Given the description of an element on the screen output the (x, y) to click on. 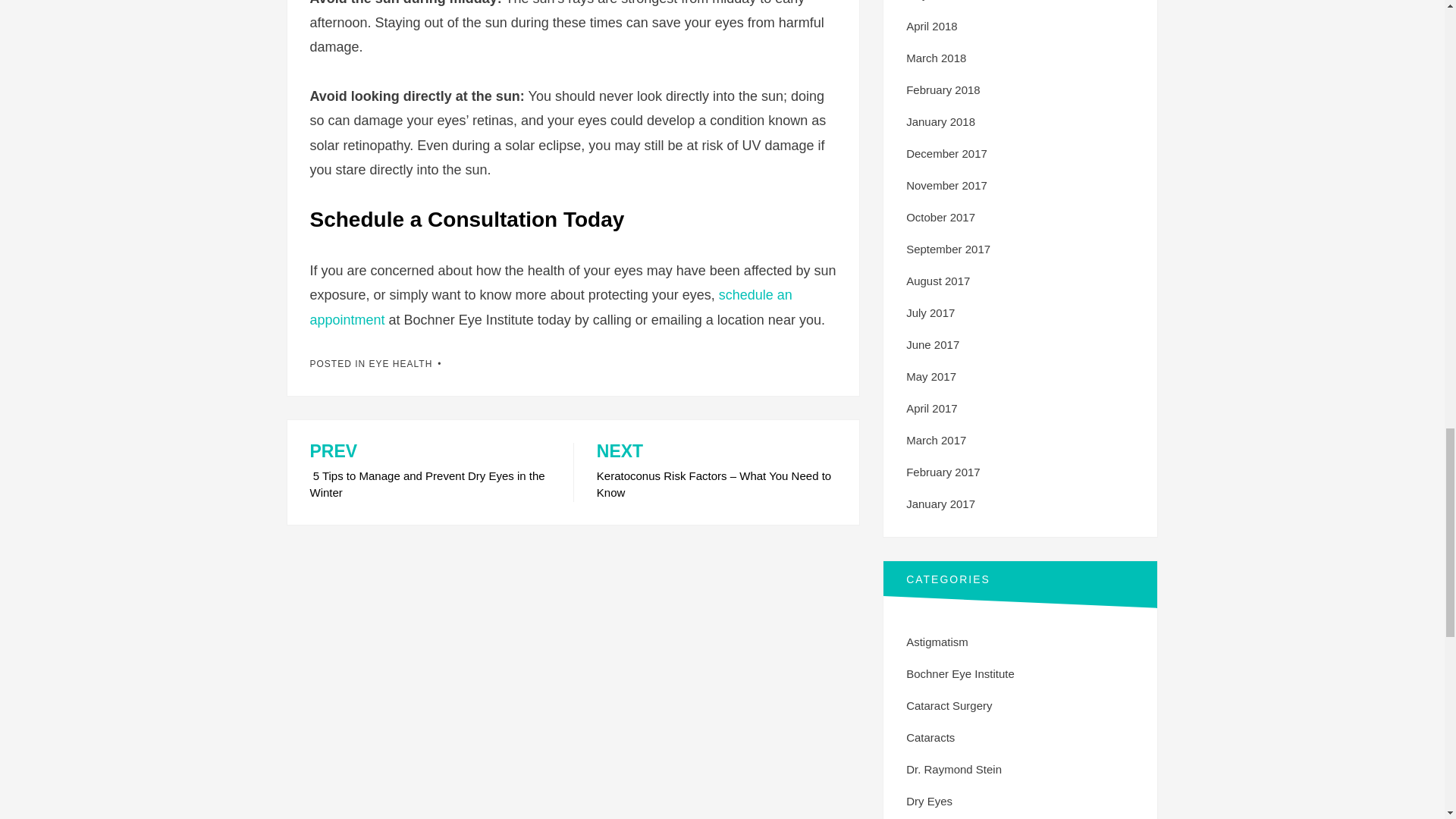
February 2018 (942, 89)
May 2018 (930, 0)
March 2018 (935, 57)
EYE HEALTH (400, 363)
schedule an appointment (550, 306)
December 2017 (946, 153)
January 2018 (940, 121)
April 2018 (931, 25)
November 2017 (429, 472)
